Given the description of an element on the screen output the (x, y) to click on. 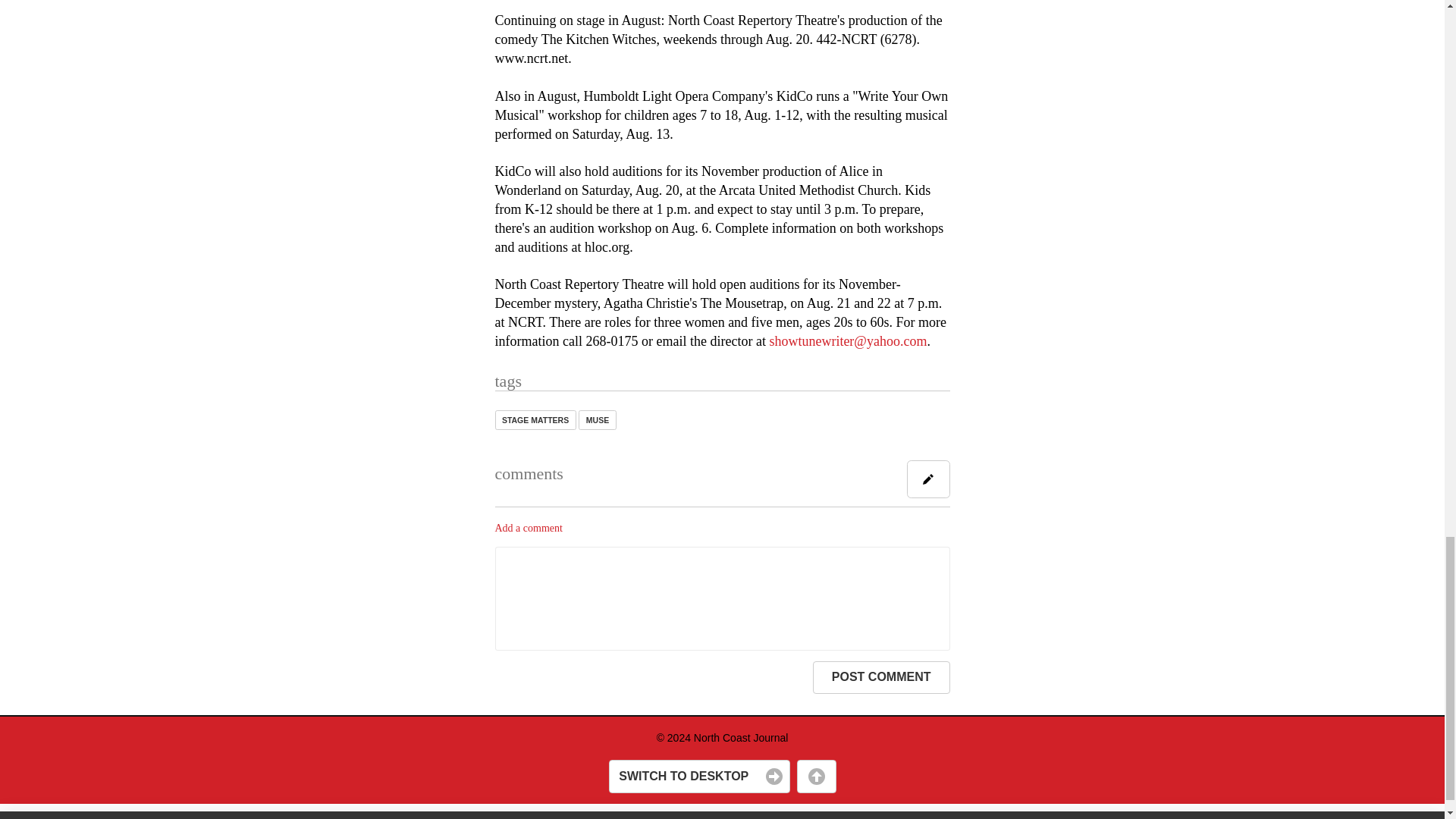
Post Comment (881, 677)
Add a comment (528, 527)
ADD A COMMENT (928, 478)
Post Comment (881, 677)
MUSE (596, 419)
STAGE MATTERS (535, 419)
BACK TO TOP (815, 776)
SWITCH TO DESKTOP (698, 776)
